Given the description of an element on the screen output the (x, y) to click on. 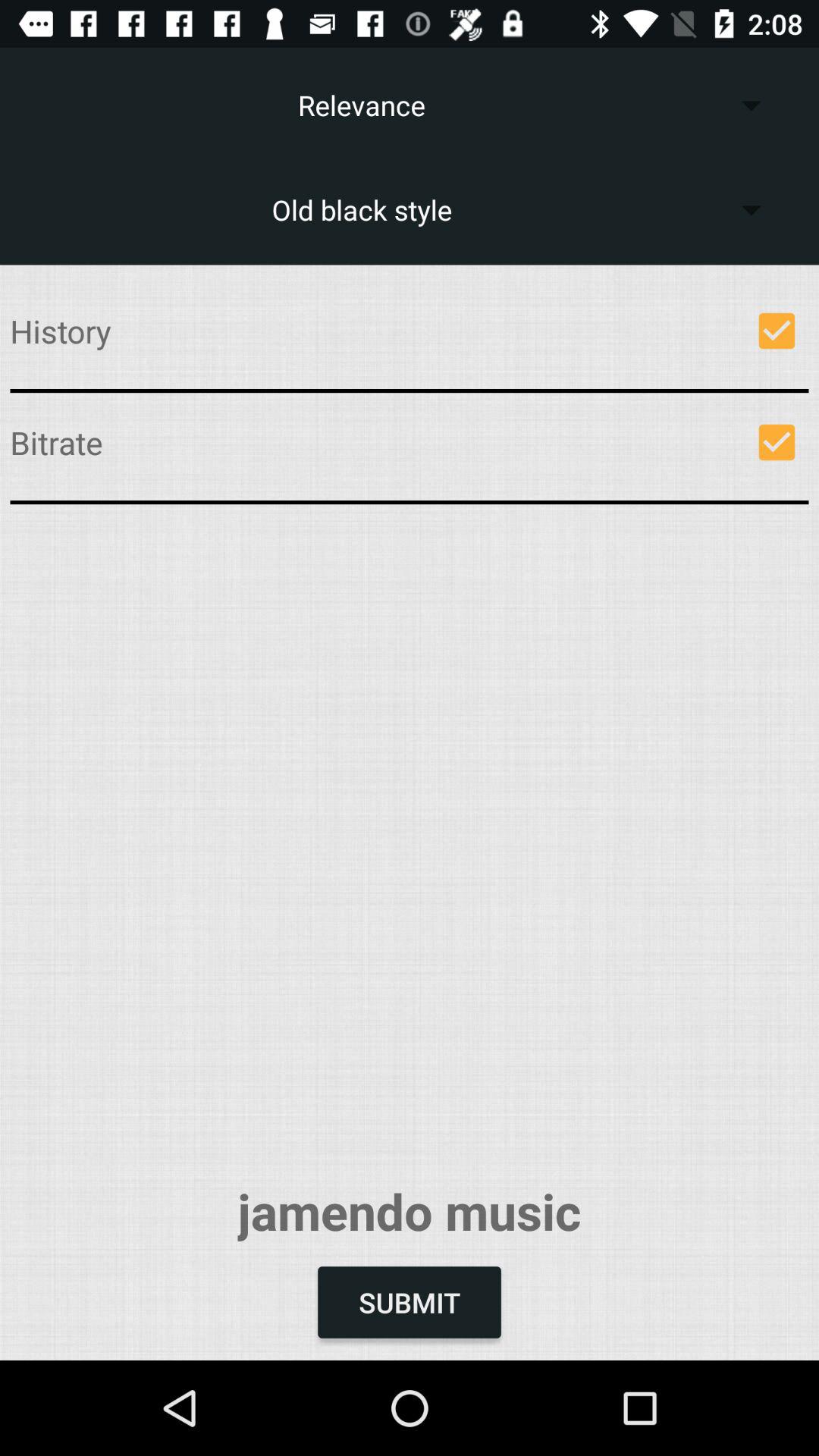
this button allows you to select your history (776, 330)
